Given the description of an element on the screen output the (x, y) to click on. 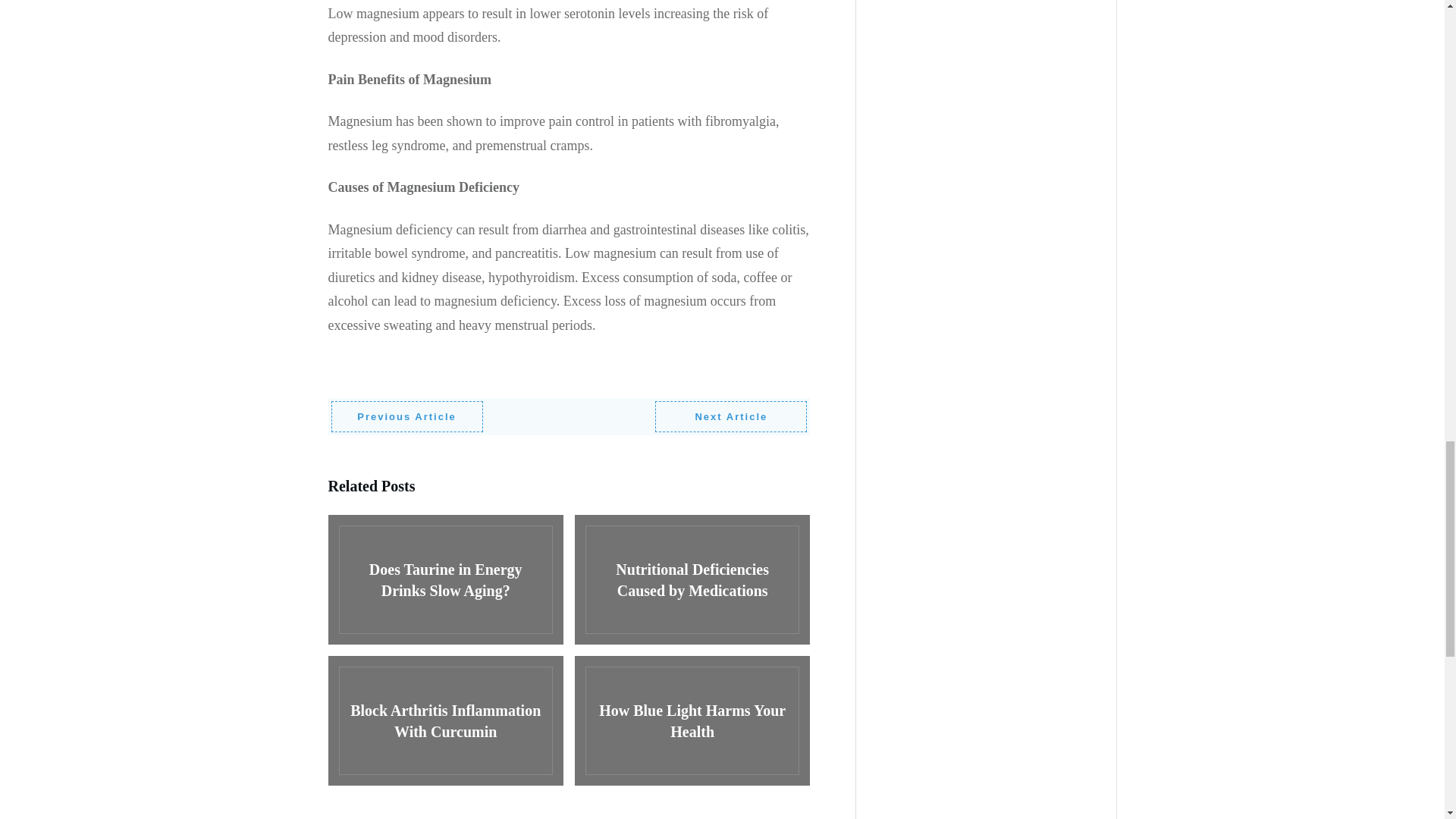
Block Arthritis Inflammation With Curcumin (444, 721)
Previous Article (405, 417)
Next Article (730, 417)
Nutritional Deficiencies Caused by Medications (692, 580)
How Blue Light Harms Your Health (692, 721)
Does Taurine in Energy Drinks Slow Aging? (444, 580)
